Given the description of an element on the screen output the (x, y) to click on. 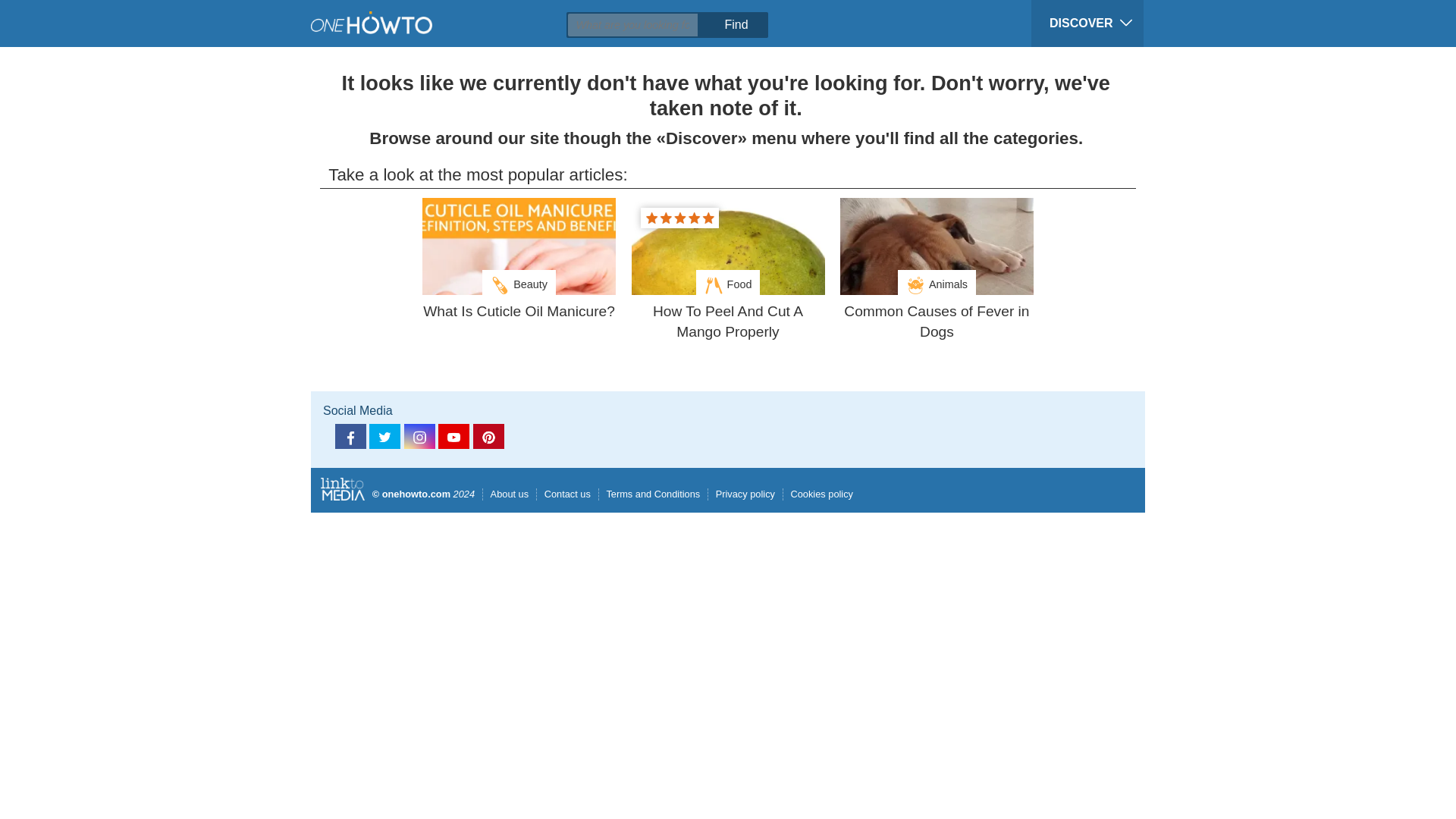
pinterest (488, 436)
About us (504, 493)
youtube (453, 436)
How To Peel And Cut A Mango Properly (727, 322)
Terms and Conditions (649, 493)
Privacy policy (740, 493)
Contact us (563, 493)
facebook (350, 436)
Find (734, 24)
What Is Cuticle Oil Manicure? (518, 312)
instagram (419, 436)
twitter (384, 436)
